Given the description of an element on the screen output the (x, y) to click on. 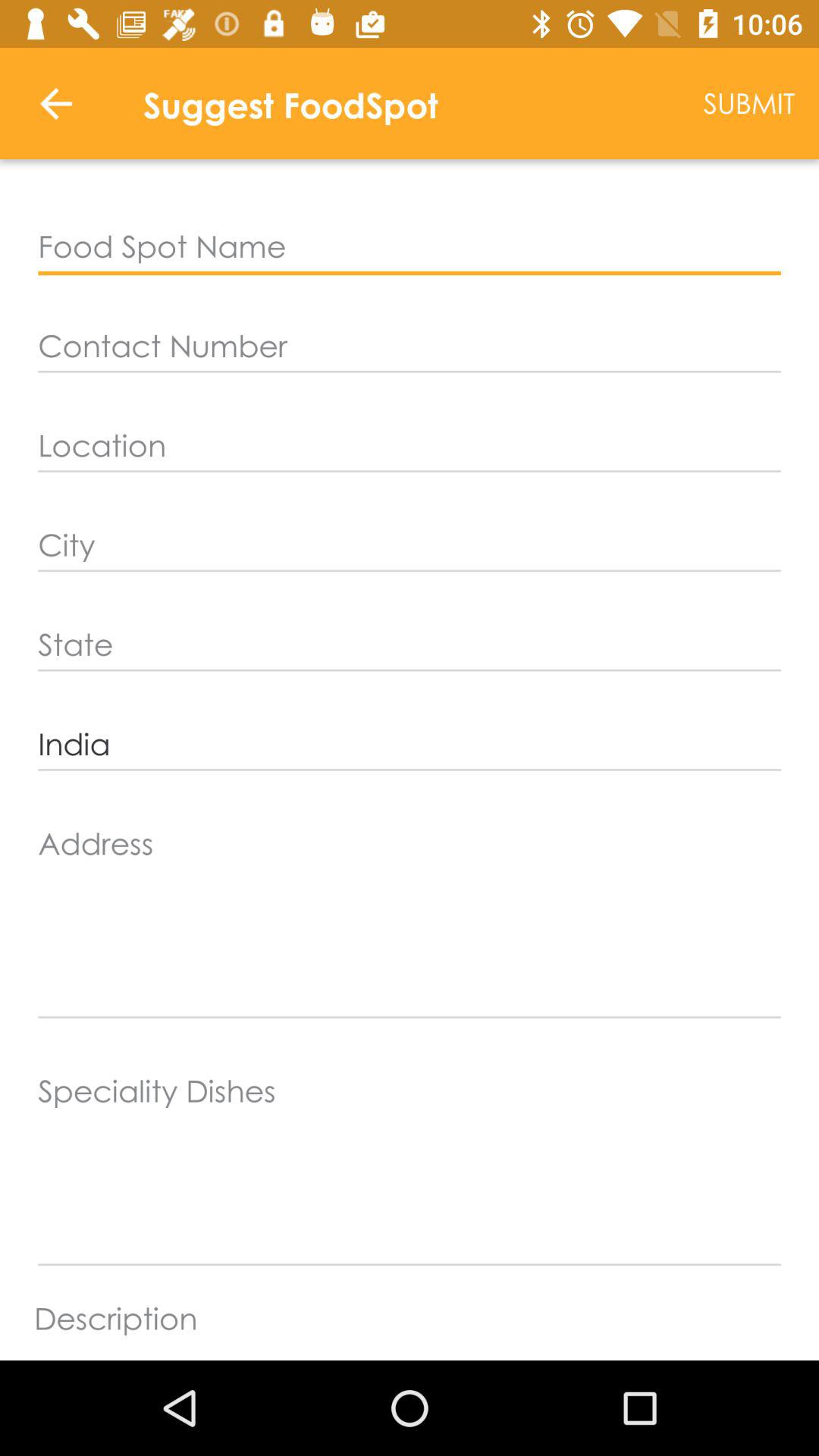
launch the submit icon (749, 103)
